Given the description of an element on the screen output the (x, y) to click on. 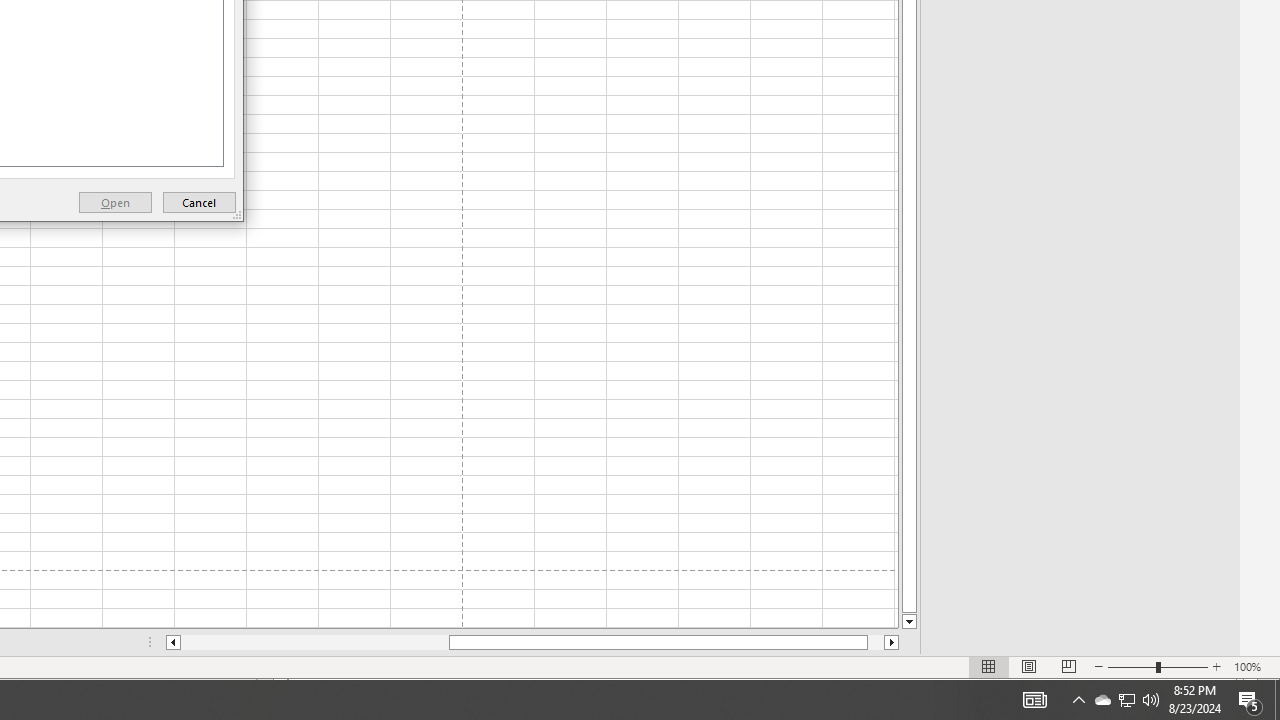
Action Center, 5 new notifications (1250, 699)
Cancel (199, 201)
